Given the description of an element on the screen output the (x, y) to click on. 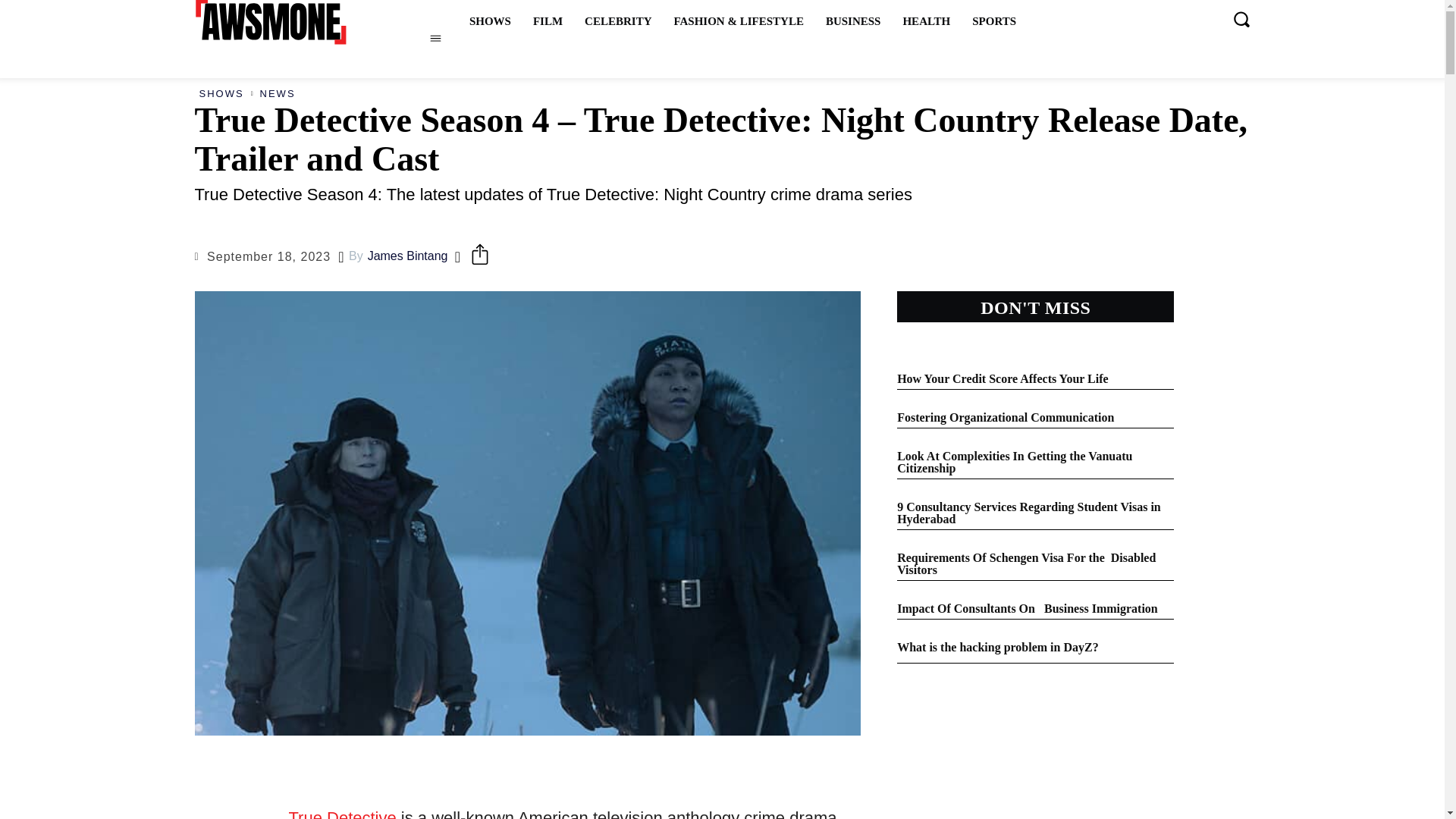
How Your Credit Score Affects Your Life (1002, 378)
